Given the description of an element on the screen output the (x, y) to click on. 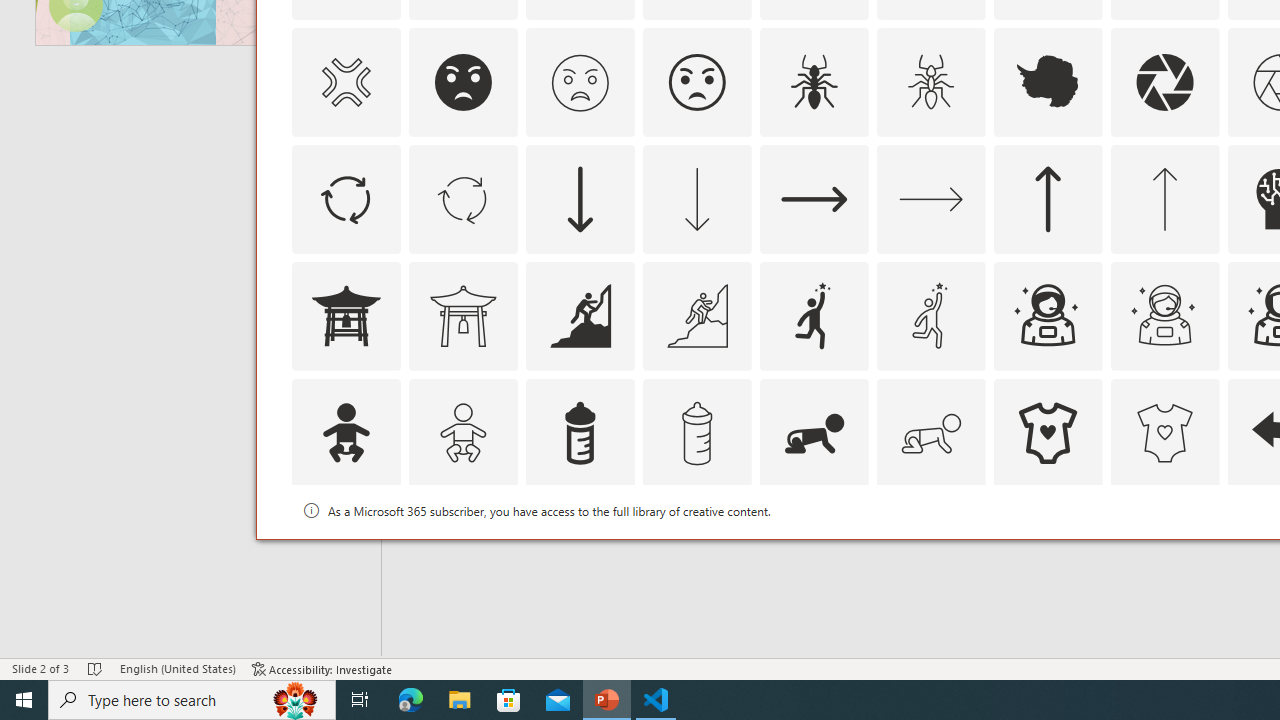
AutomationID: Icons_Baby (345, 432)
AutomationID: Icons_ArrowRight_M (930, 198)
AutomationID: Icons_Aspiration (579, 316)
AutomationID: Icons_Ant (813, 82)
AutomationID: Icons_Badge3 (696, 550)
AutomationID: Icons_ArrowDown_M (696, 198)
AutomationID: Icons_ArrowDown (579, 198)
AutomationID: Icons_BabyOnesie_M (1164, 432)
AutomationID: Icons_Badge2 (463, 550)
